Given the description of an element on the screen output the (x, y) to click on. 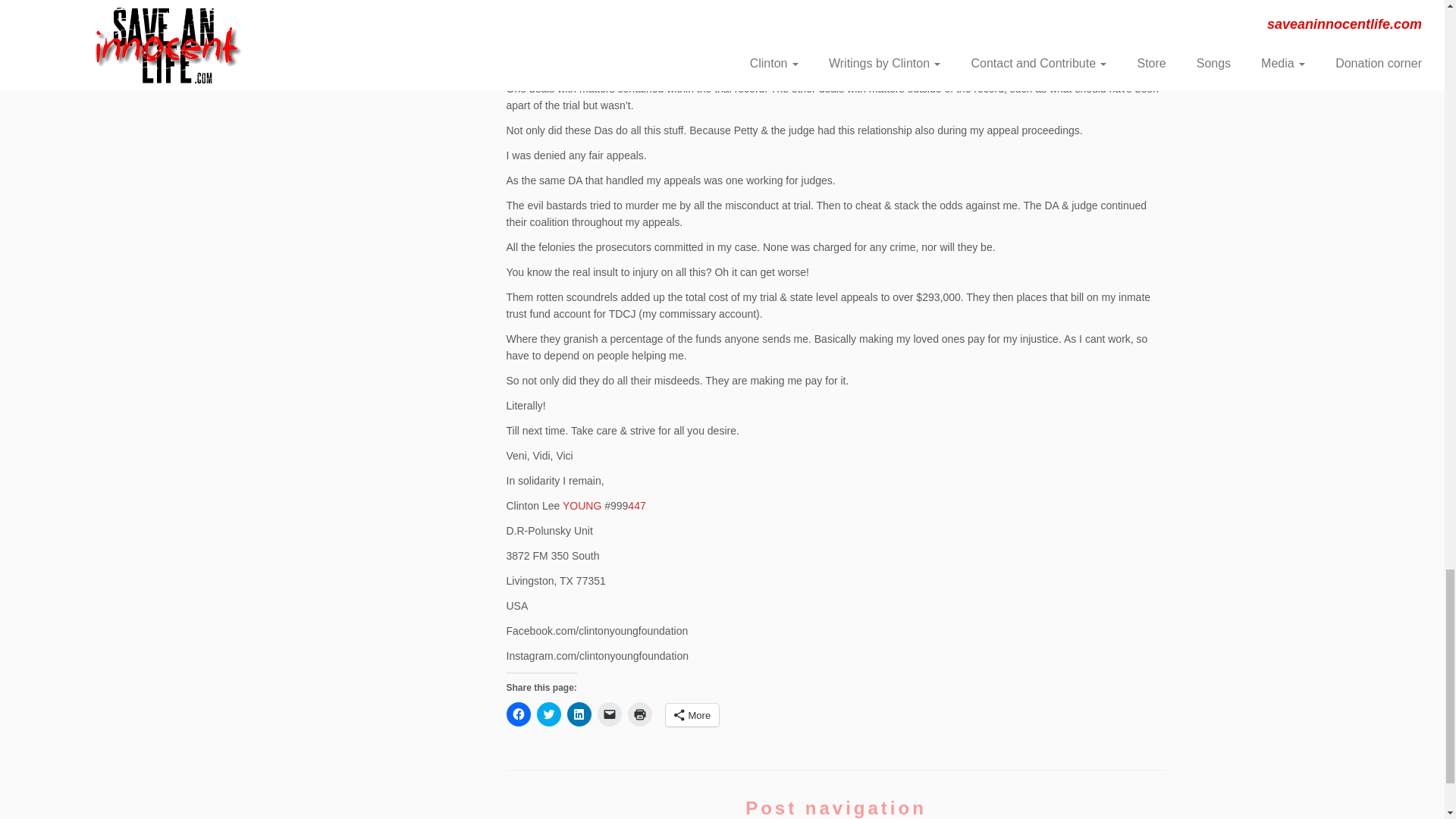
Click to share on Facebook (518, 713)
Click to email a link to a friend (608, 713)
Click to print (639, 713)
Click to share on LinkedIn (579, 713)
Click to share on Twitter (548, 713)
